Given the description of an element on the screen output the (x, y) to click on. 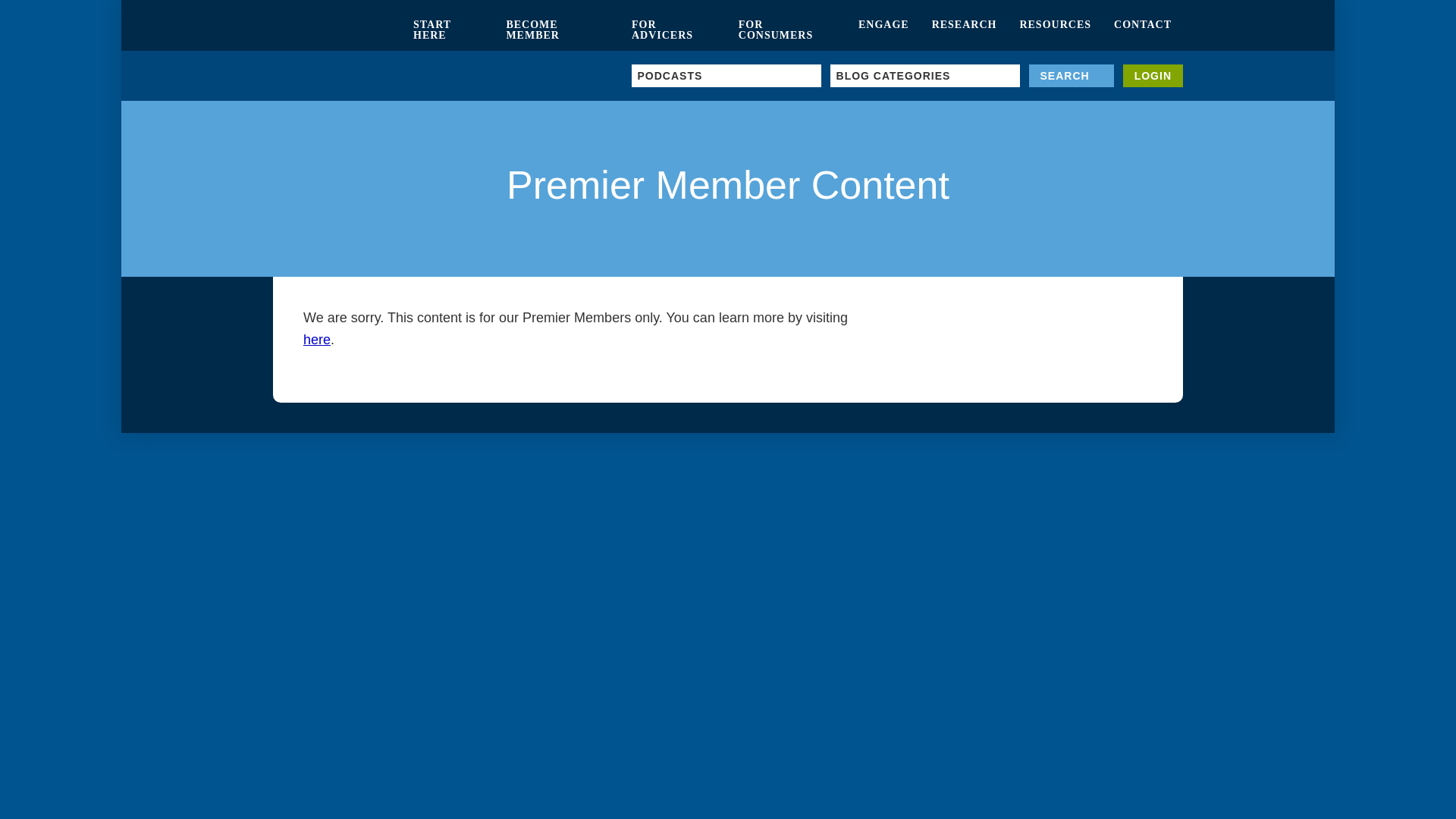
START HERE (448, 30)
RESEARCH (964, 30)
RESOURCES (1054, 30)
ENGAGE (883, 30)
FOR ADVICERS (673, 30)
FOR CONSUMERS (786, 30)
CONTACT (1142, 30)
BECOME MEMBER (557, 30)
Kitces.com (337, 29)
